Given the description of an element on the screen output the (x, y) to click on. 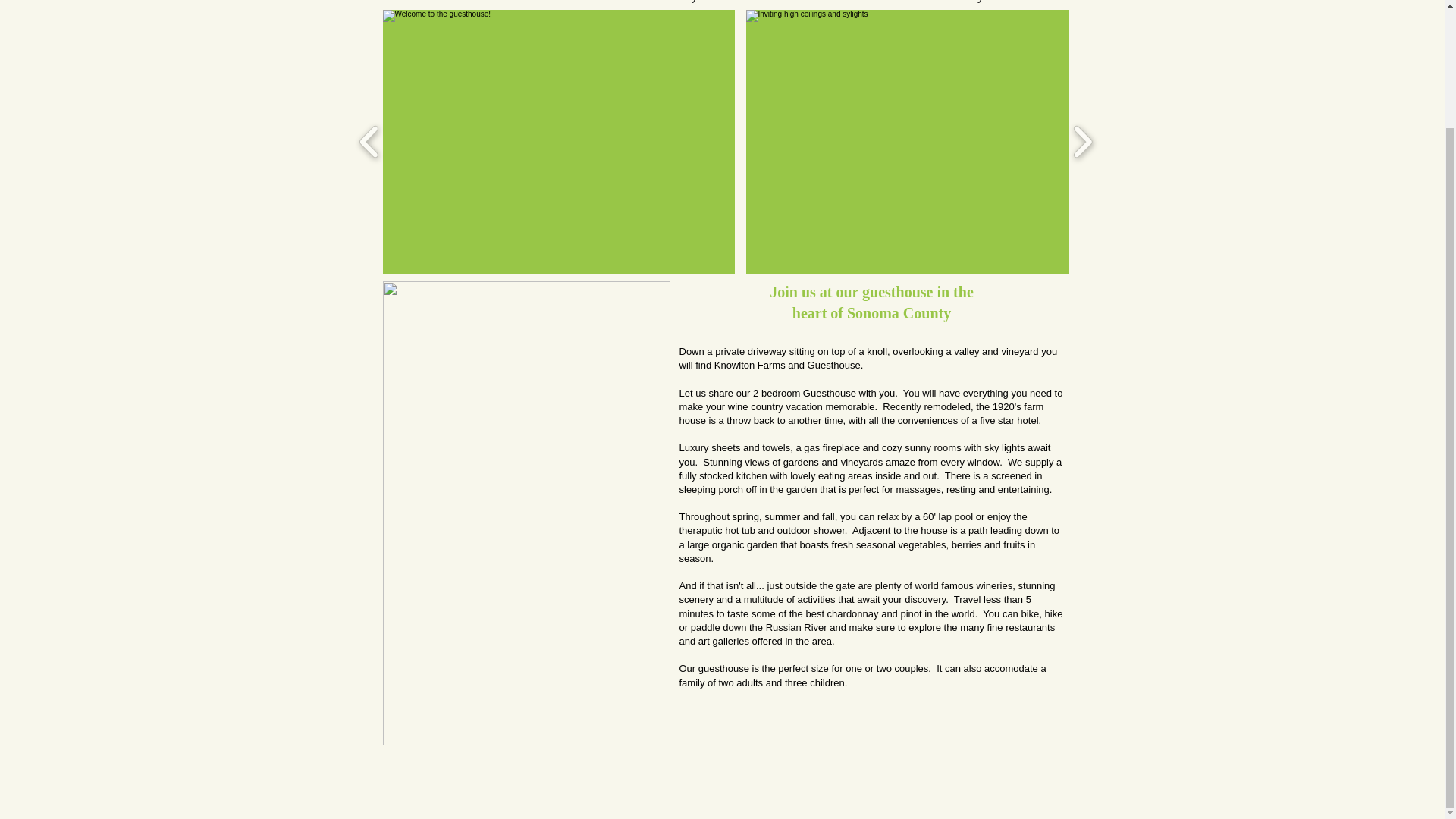
Contact The Dalya Estate (956, 4)
About Knowlton Farms (479, 4)
History of the Farm (713, 4)
